Given the description of an element on the screen output the (x, y) to click on. 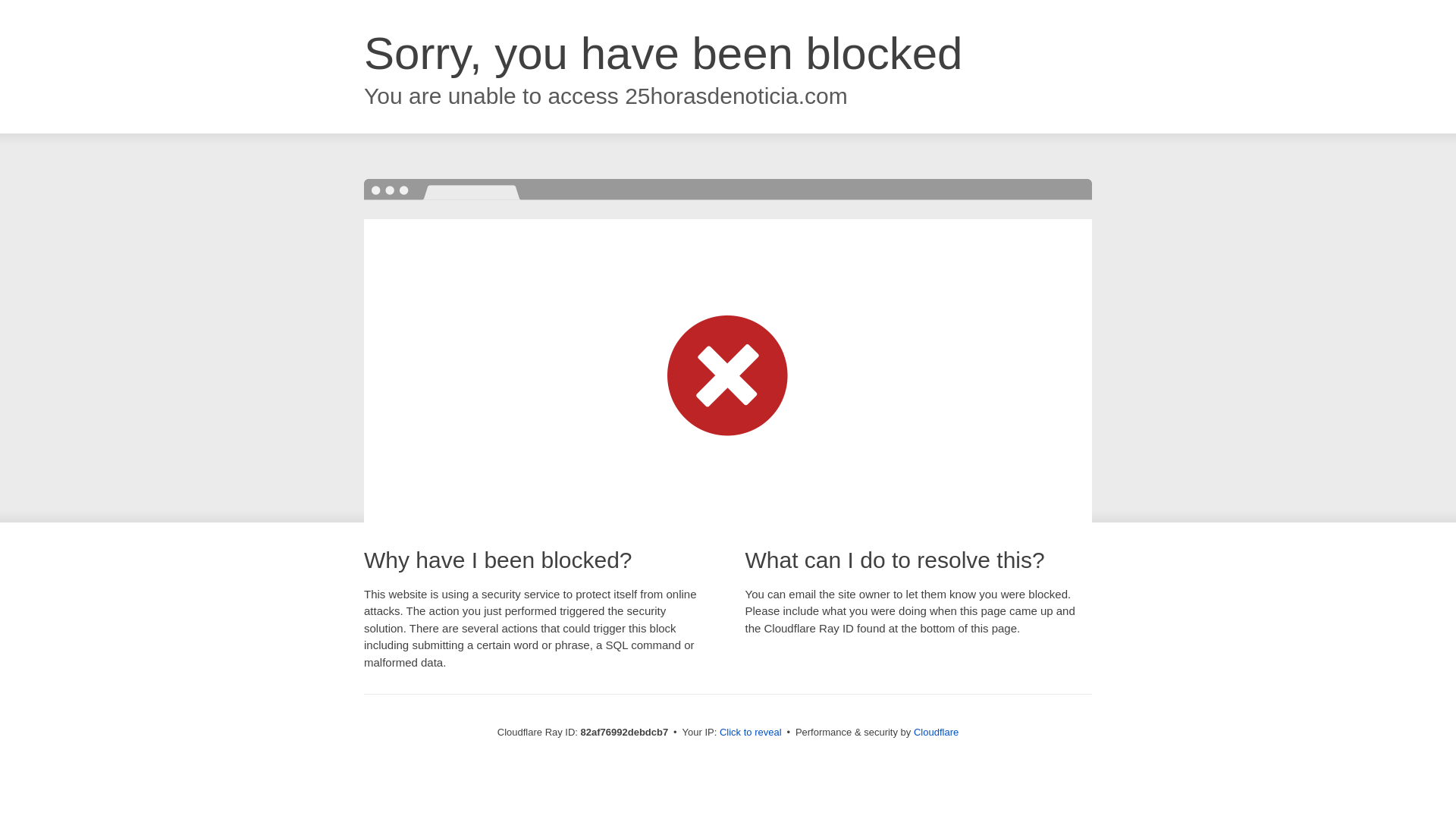
Click to reveal Element type: text (750, 732)
Cloudflare Element type: text (935, 731)
